Given the description of an element on the screen output the (x, y) to click on. 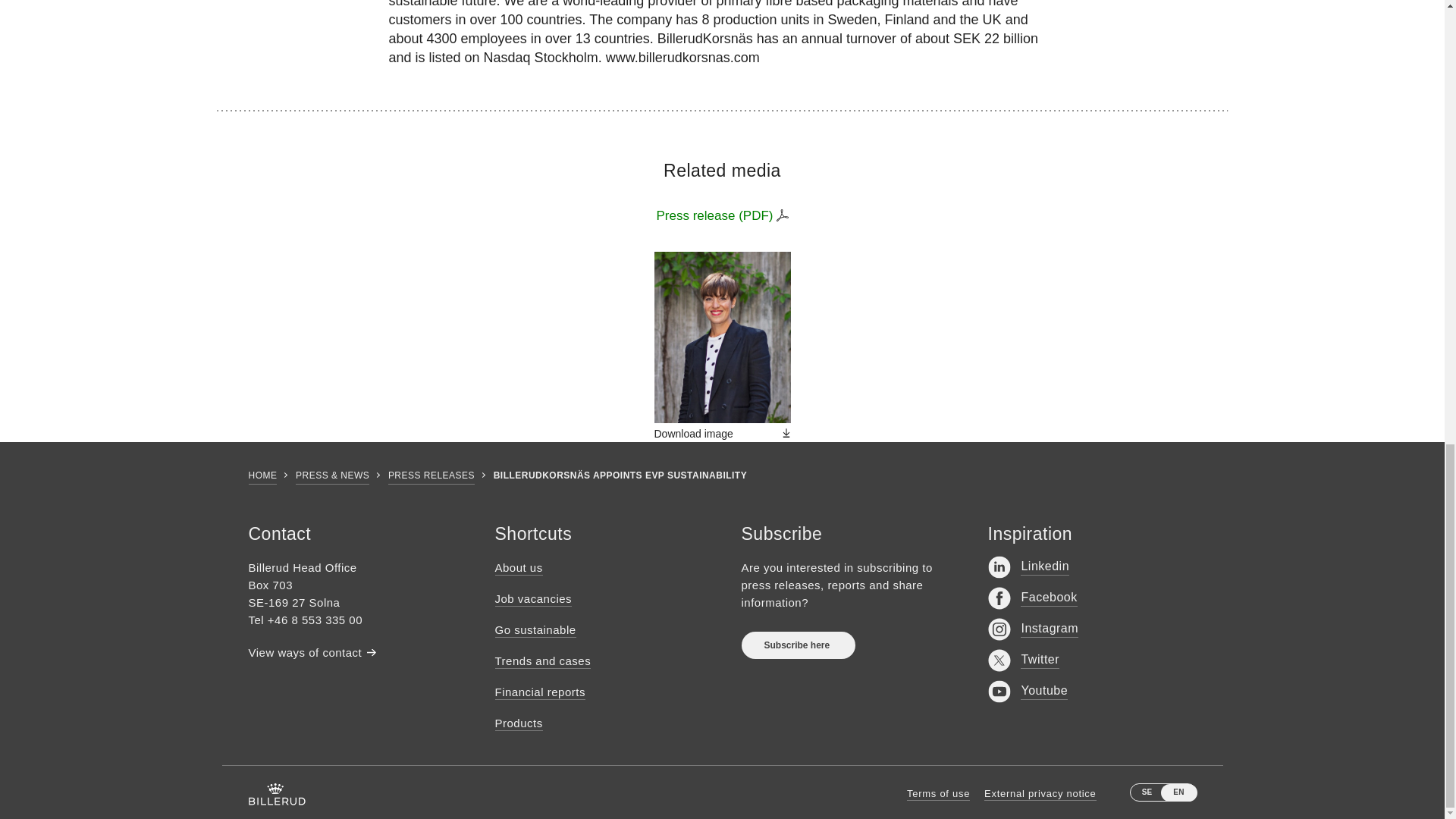
Twitter (1023, 660)
Youtube (1027, 691)
Linkedin (1027, 567)
Facebook (1032, 598)
Go to home link (276, 793)
Instagram (1032, 629)
Contact (305, 652)
